Given the description of an element on the screen output the (x, y) to click on. 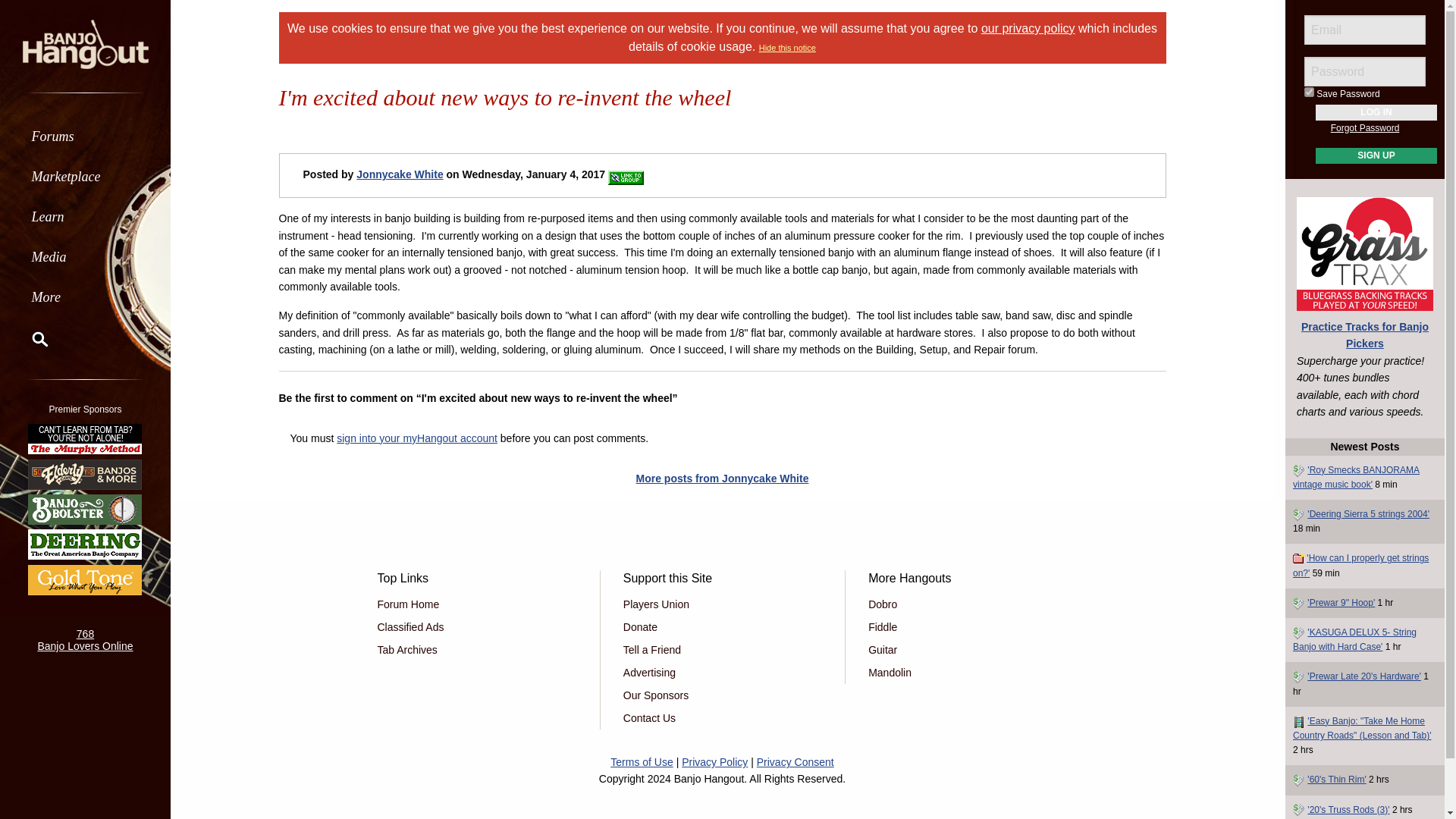
The Murphy Method (84, 438)
Link This Content to a Group (625, 174)
Elderly Instruments - Since 1972 (84, 473)
Sign Up (1376, 155)
Log In (1376, 112)
Banjo Bolster Tone Enhancer (84, 509)
Deering Banjos (84, 544)
Marketplace (85, 176)
Forums (85, 136)
Link This Item to Your Groups (625, 177)
Go to Home Page (85, 42)
true (1309, 91)
Gold Tone (84, 579)
